Given the description of an element on the screen output the (x, y) to click on. 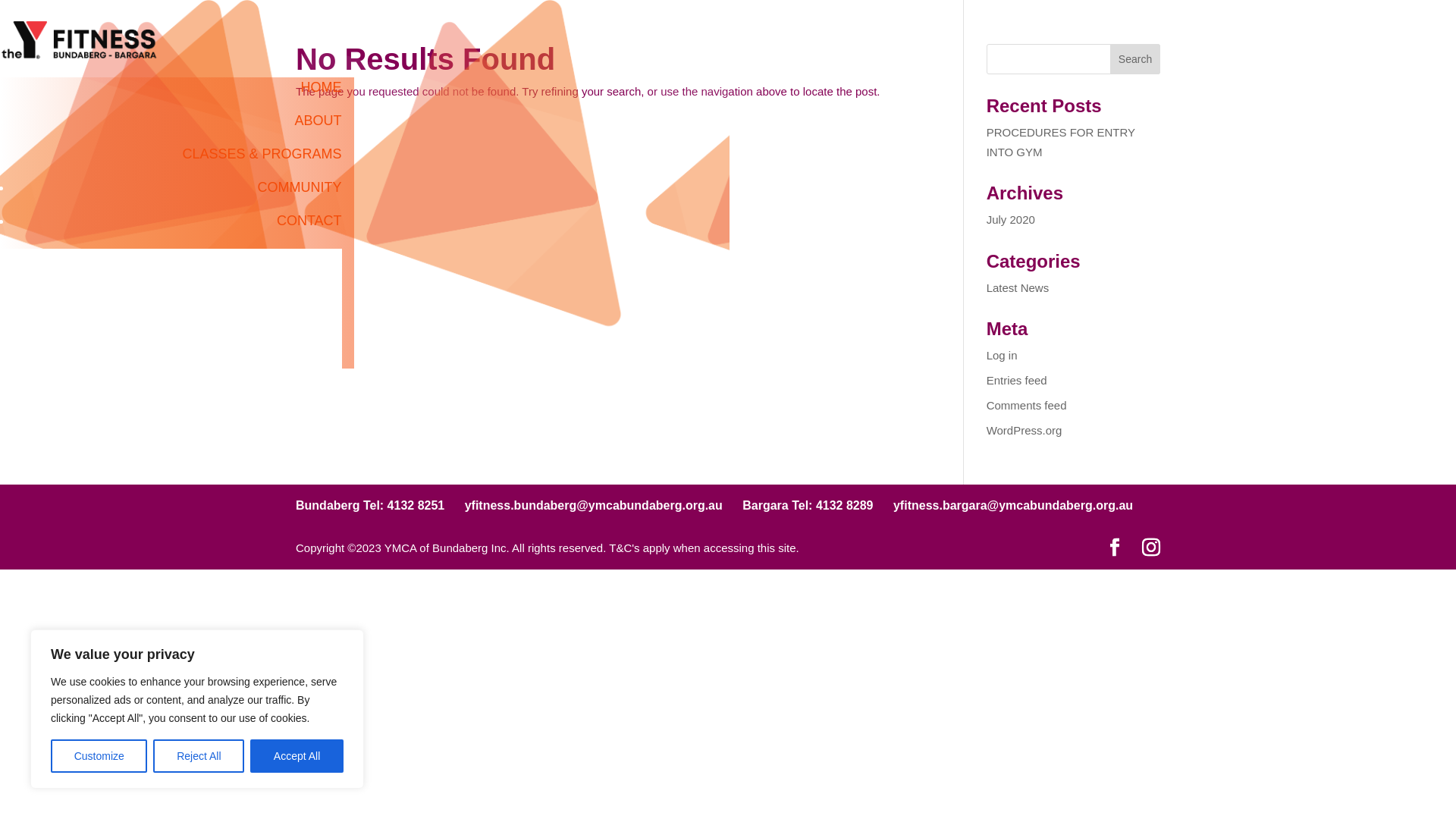
Search Element type: text (1135, 58)
CLASSES & PROGRAMS Element type: text (261, 159)
COMMUNITY Element type: text (299, 192)
YTFITNESS BUNDABERG & BARGARA Element type: hover (83, 40)
Log in Element type: text (1001, 354)
HOME Element type: text (321, 92)
Accept All Element type: text (296, 755)
Latest News Element type: text (1017, 286)
yfitness.bundaberg@ymcabundaberg.org.au Element type: text (593, 504)
Customize Element type: text (98, 755)
Comments feed Element type: text (1026, 404)
Entries feed Element type: text (1016, 379)
Reject All Element type: text (198, 755)
yfitness.bargara@ymcabundaberg.org.au Element type: text (1012, 504)
WordPress.org Element type: text (1024, 429)
COMMUNITY Element type: text (299, 319)
PROCEDURES FOR ENTRY INTO GYM Element type: text (1060, 141)
HOME Element type: text (321, 258)
ABOUT Element type: text (318, 125)
ABOUT Element type: text (318, 278)
CLASSES & PROGRAMS Element type: text (261, 299)
Bargara Tel: 4132 8289 Element type: text (807, 504)
Bundaberg Tel: 4132 8251 Element type: text (369, 504)
July 2020 Element type: text (1010, 219)
CONTACT Element type: text (309, 225)
CONTACT Element type: text (309, 340)
